Given the description of an element on the screen output the (x, y) to click on. 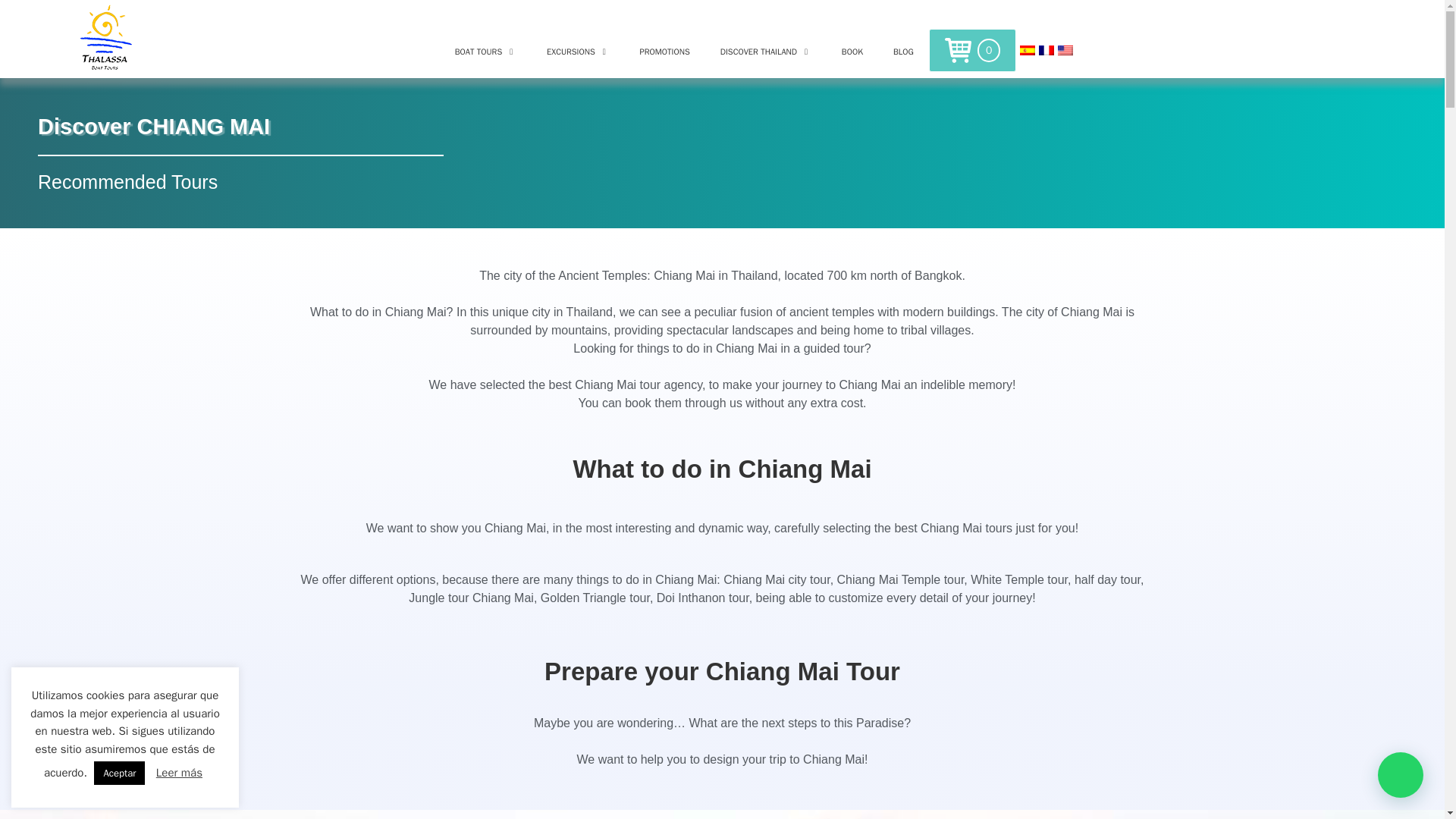
DISCOVER THAILAND (765, 51)
Spanish (1027, 50)
0 (972, 50)
BOOK (852, 51)
EXCURSIONS (577, 51)
BLOG (902, 51)
English (1065, 50)
French (1046, 50)
PROMOTIONS (664, 51)
Thalassa Tours (105, 37)
BOAT TOURS (485, 51)
Thalassa Tours (105, 39)
